Given the description of an element on the screen output the (x, y) to click on. 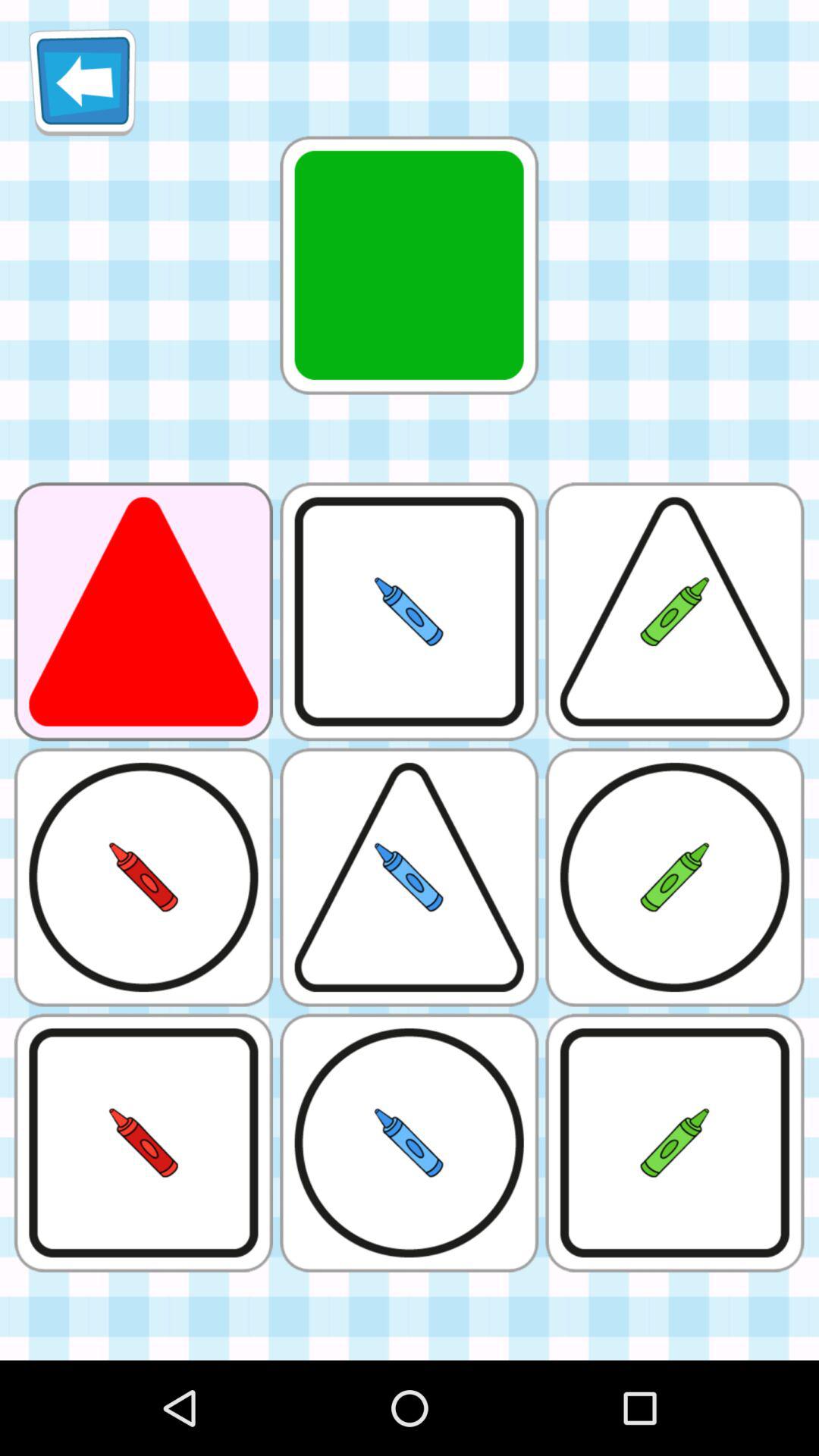
go to previous (82, 82)
